Given the description of an element on the screen output the (x, y) to click on. 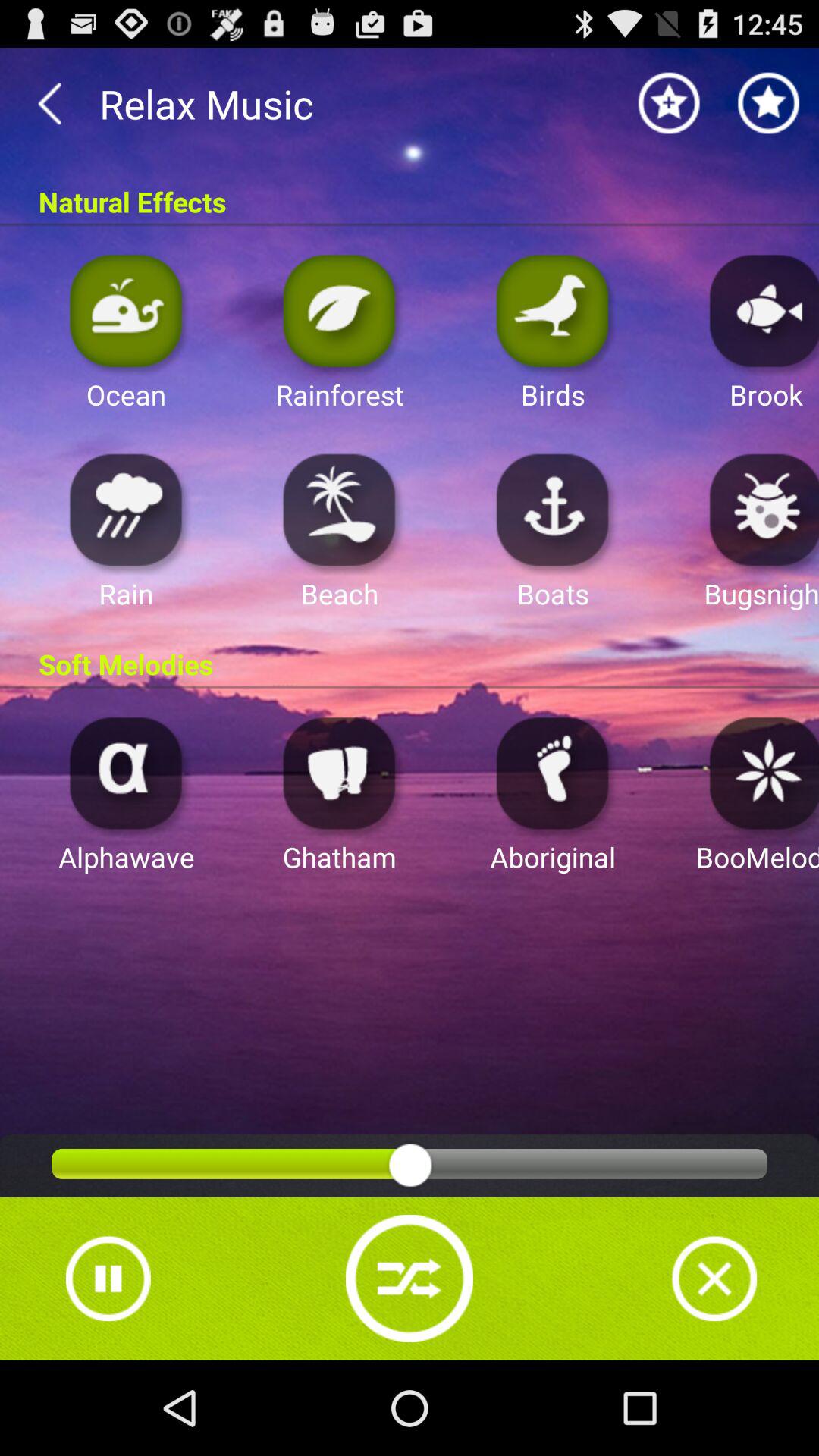
open app (339, 309)
